Given the description of an element on the screen output the (x, y) to click on. 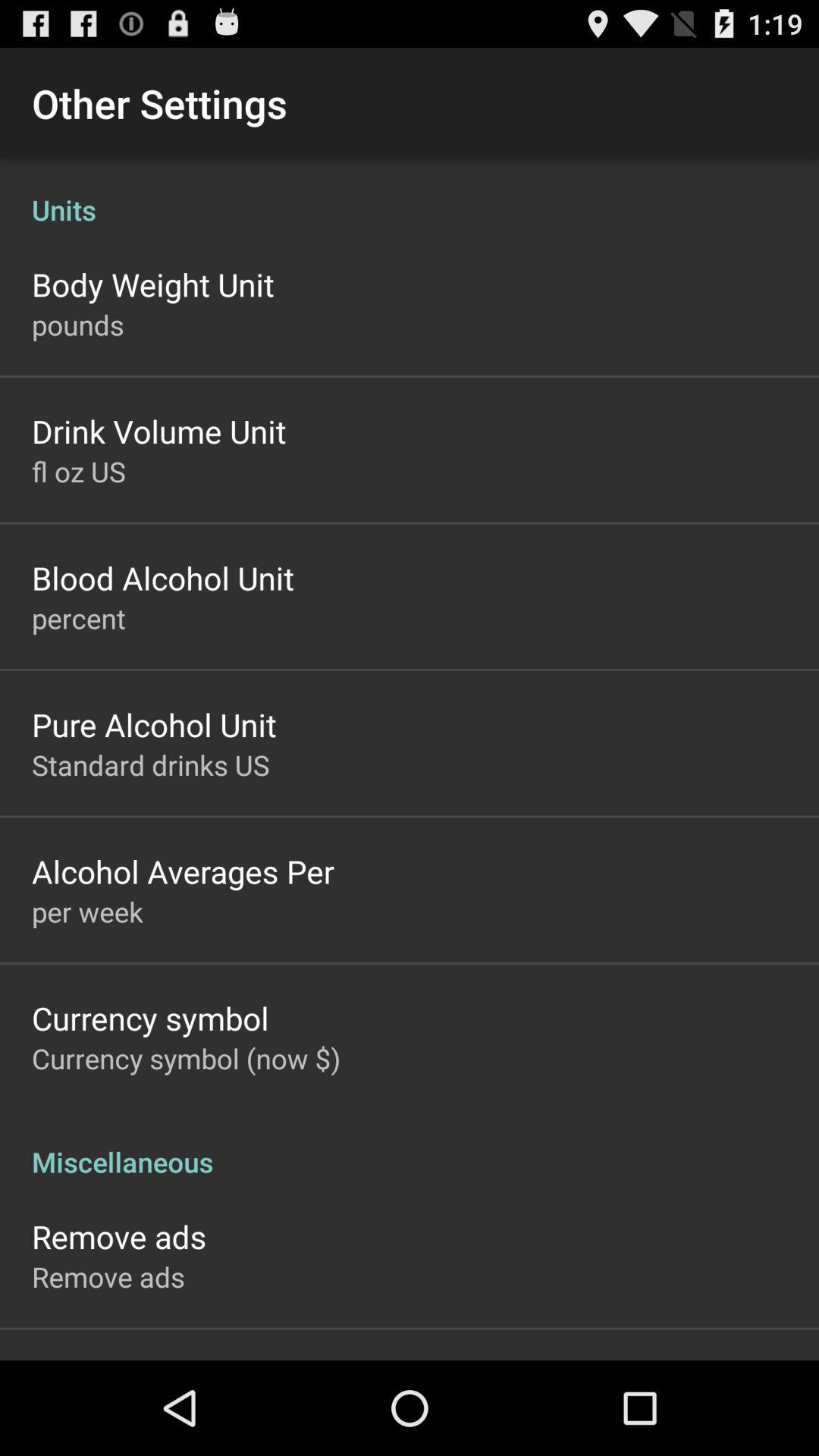
choose the item below the units (152, 283)
